Given the description of an element on the screen output the (x, y) to click on. 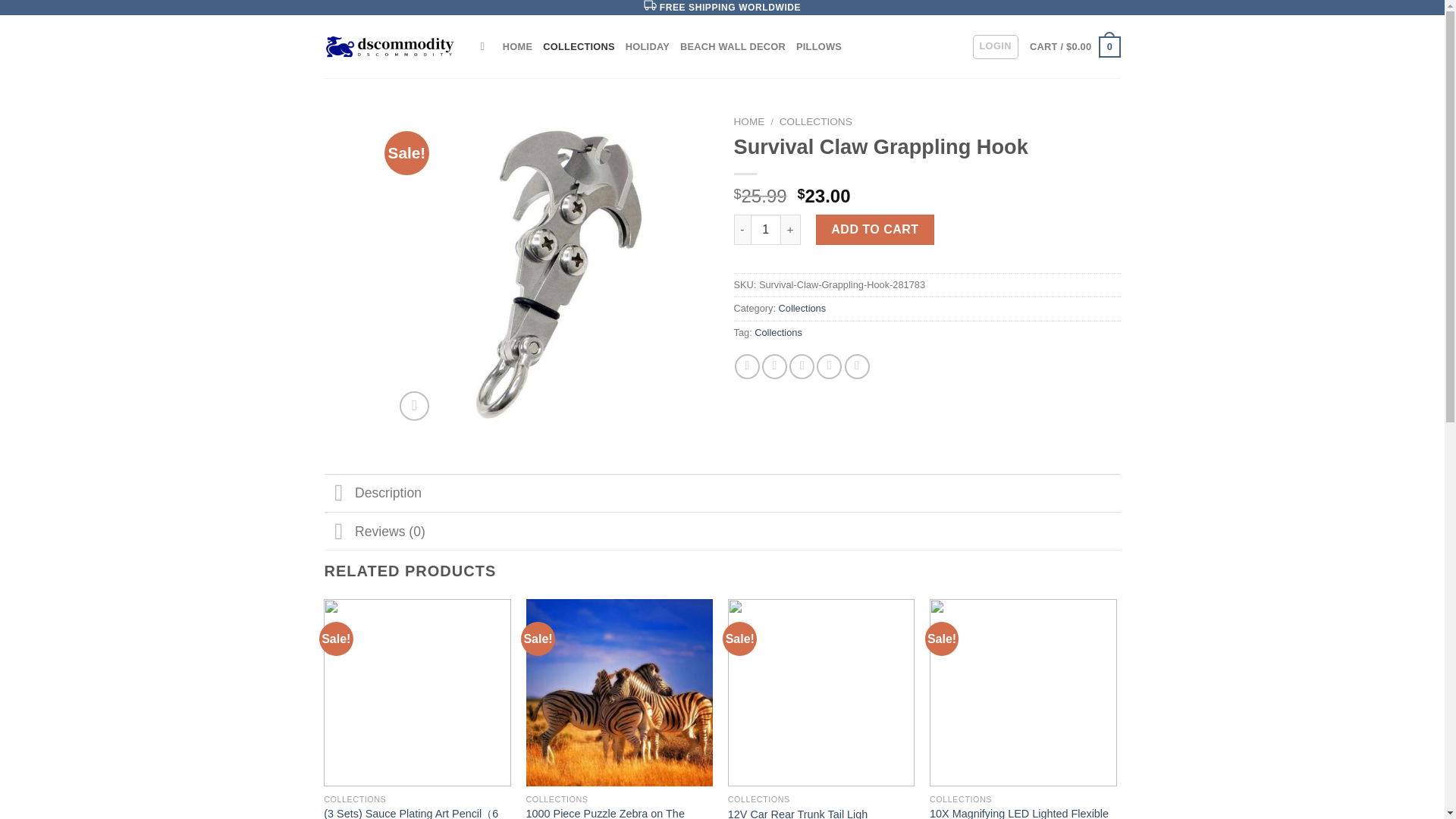
Cart (1074, 46)
PILLOWS (818, 46)
IMDW5728149012636-1.jpg (551, 268)
Zoom (413, 405)
HOLIDAY (647, 46)
COLLECTIONS (814, 121)
1 (765, 229)
ADD TO CART (874, 229)
HOME (517, 46)
Share on Facebook (747, 366)
